Given the description of an element on the screen output the (x, y) to click on. 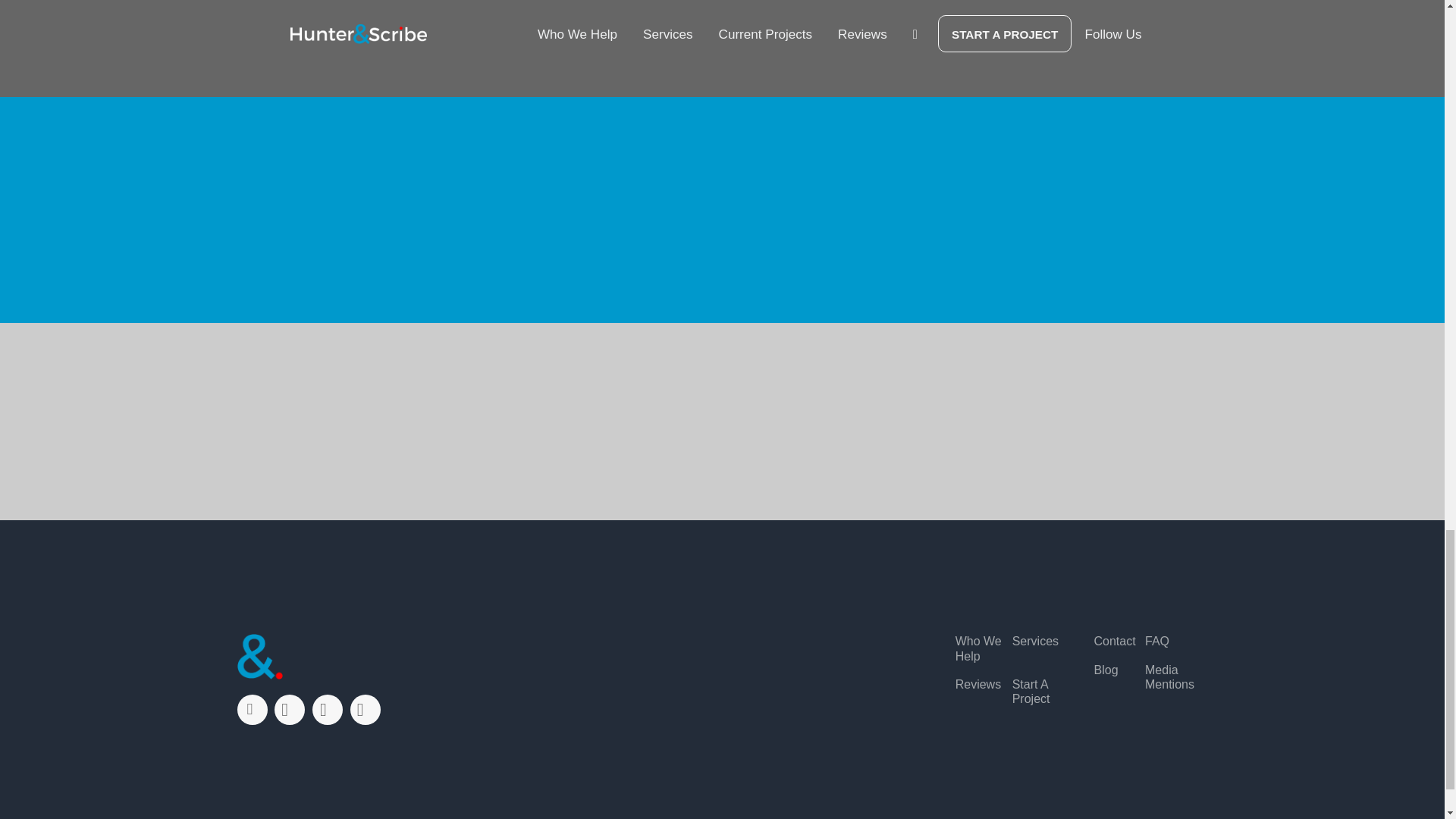
Blog (1105, 669)
Media Mentions (1170, 676)
Who We Help (983, 647)
FAQ (1156, 640)
Contact (1114, 640)
Start A Project (1039, 691)
Services (1034, 640)
Reviews (978, 684)
